Given the description of an element on the screen output the (x, y) to click on. 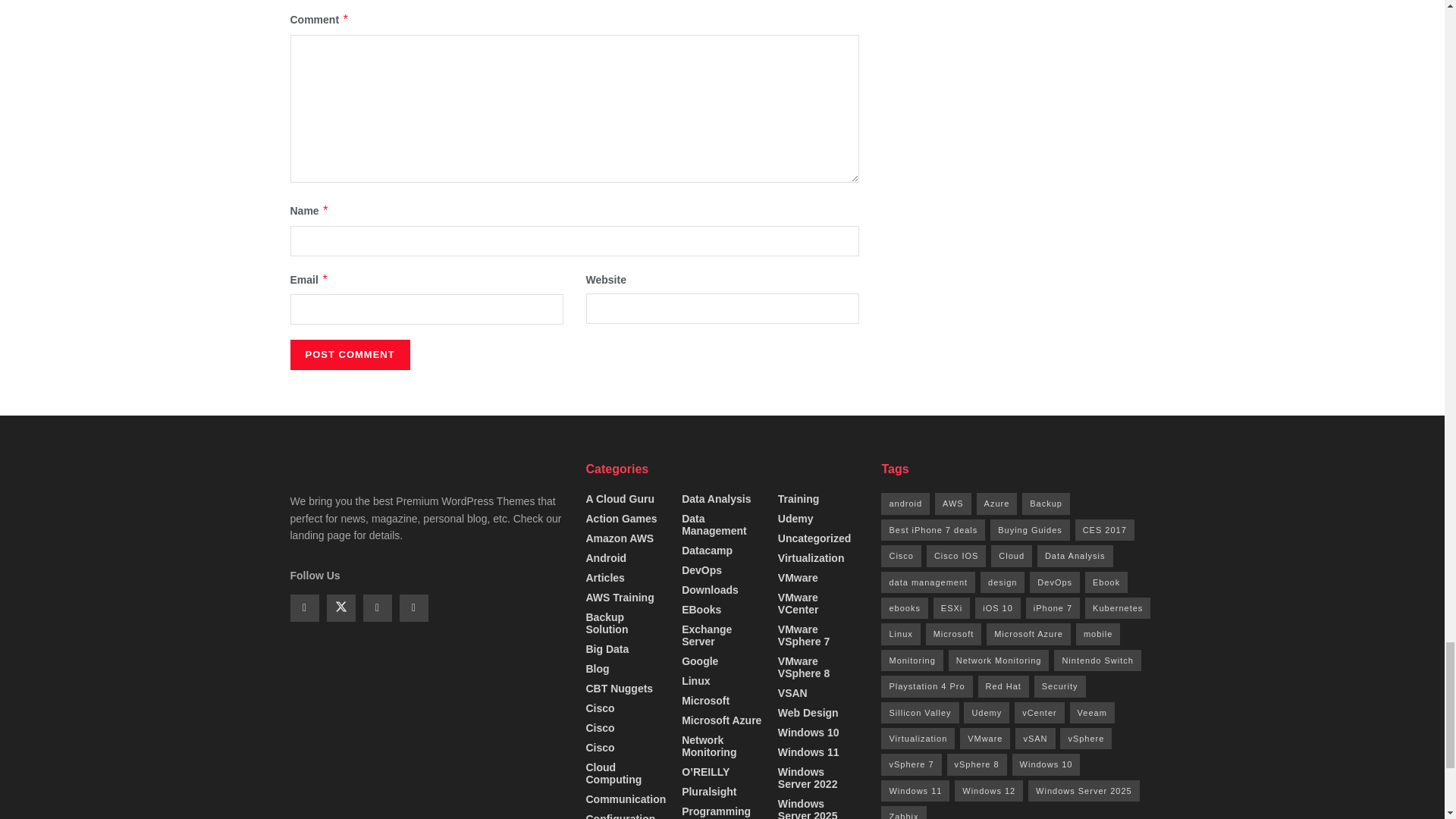
Post Comment (349, 354)
